Given the description of an element on the screen output the (x, y) to click on. 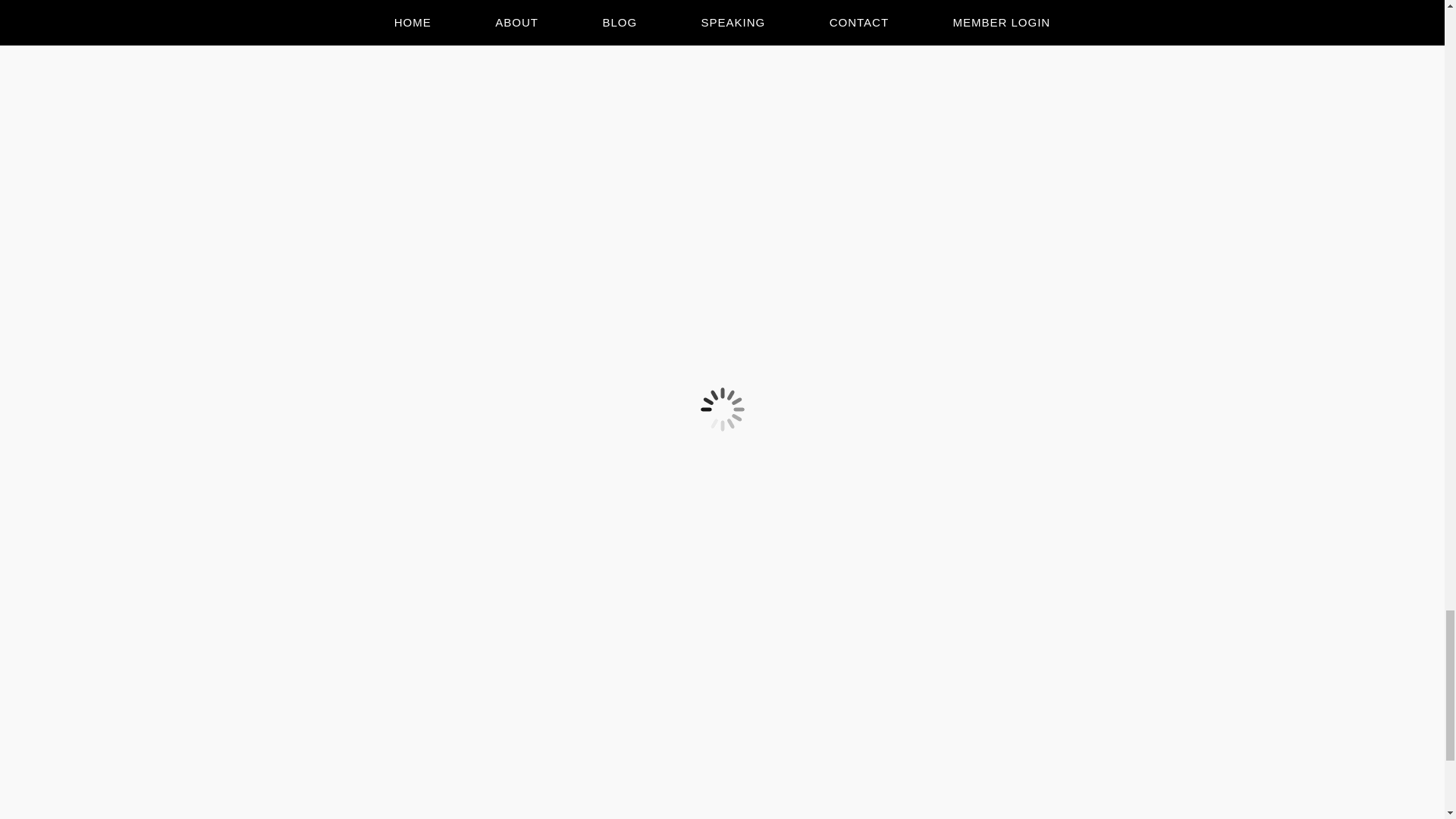
REPLY (357, 467)
yes (491, 230)
GLENDA CARLSON (391, 388)
Submit (358, 293)
Submit (358, 293)
on (491, 323)
